Given the description of an element on the screen output the (x, y) to click on. 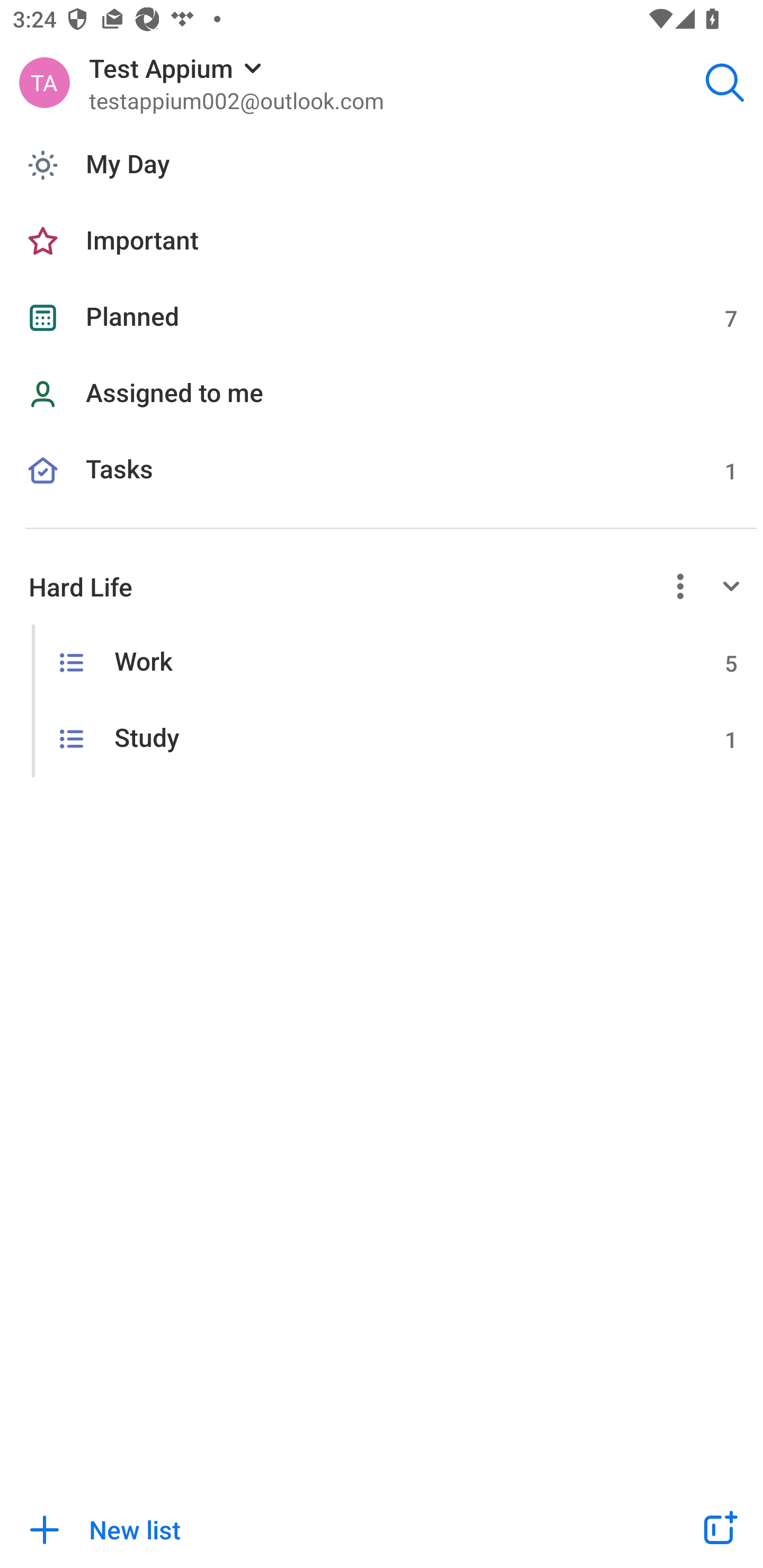
Work, 5 tasks Work 5 (381, 662)
